Given the description of an element on the screen output the (x, y) to click on. 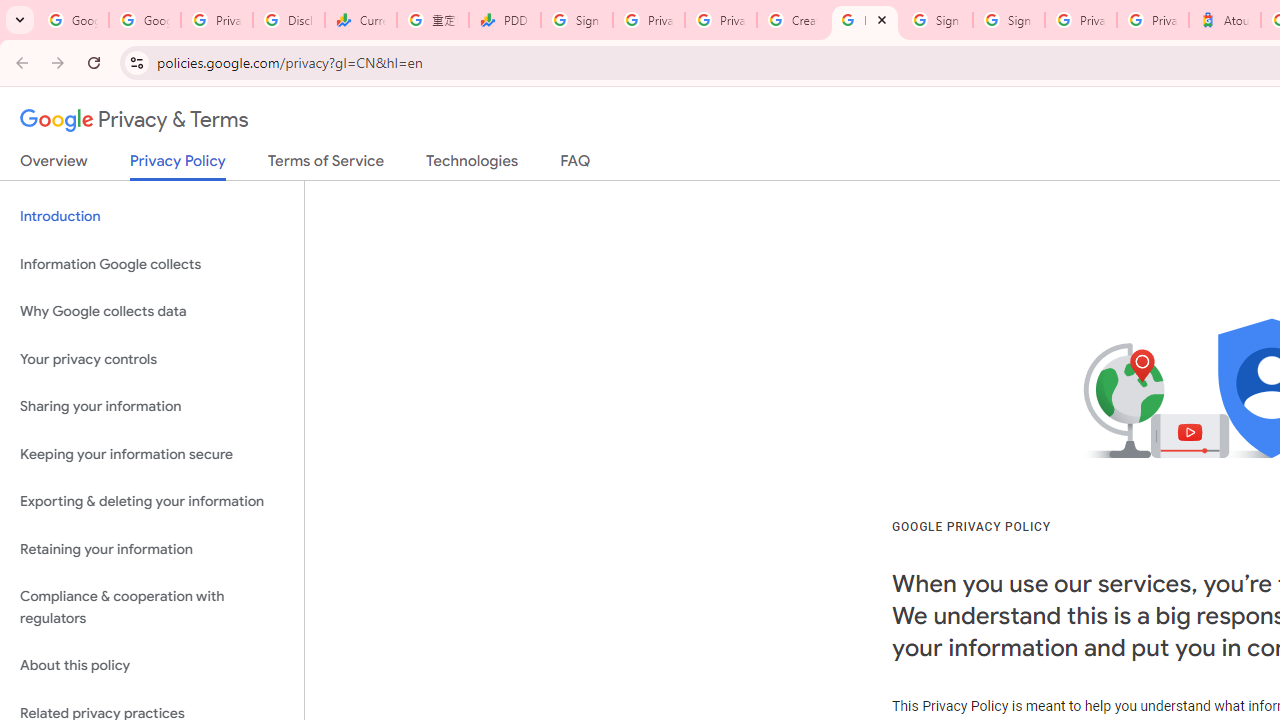
PDD Holdings Inc - ADR (PDD) Price & News - Google Finance (504, 20)
Atour Hotel - Google hotels (1224, 20)
Currencies - Google Finance (360, 20)
